Given the description of an element on the screen output the (x, y) to click on. 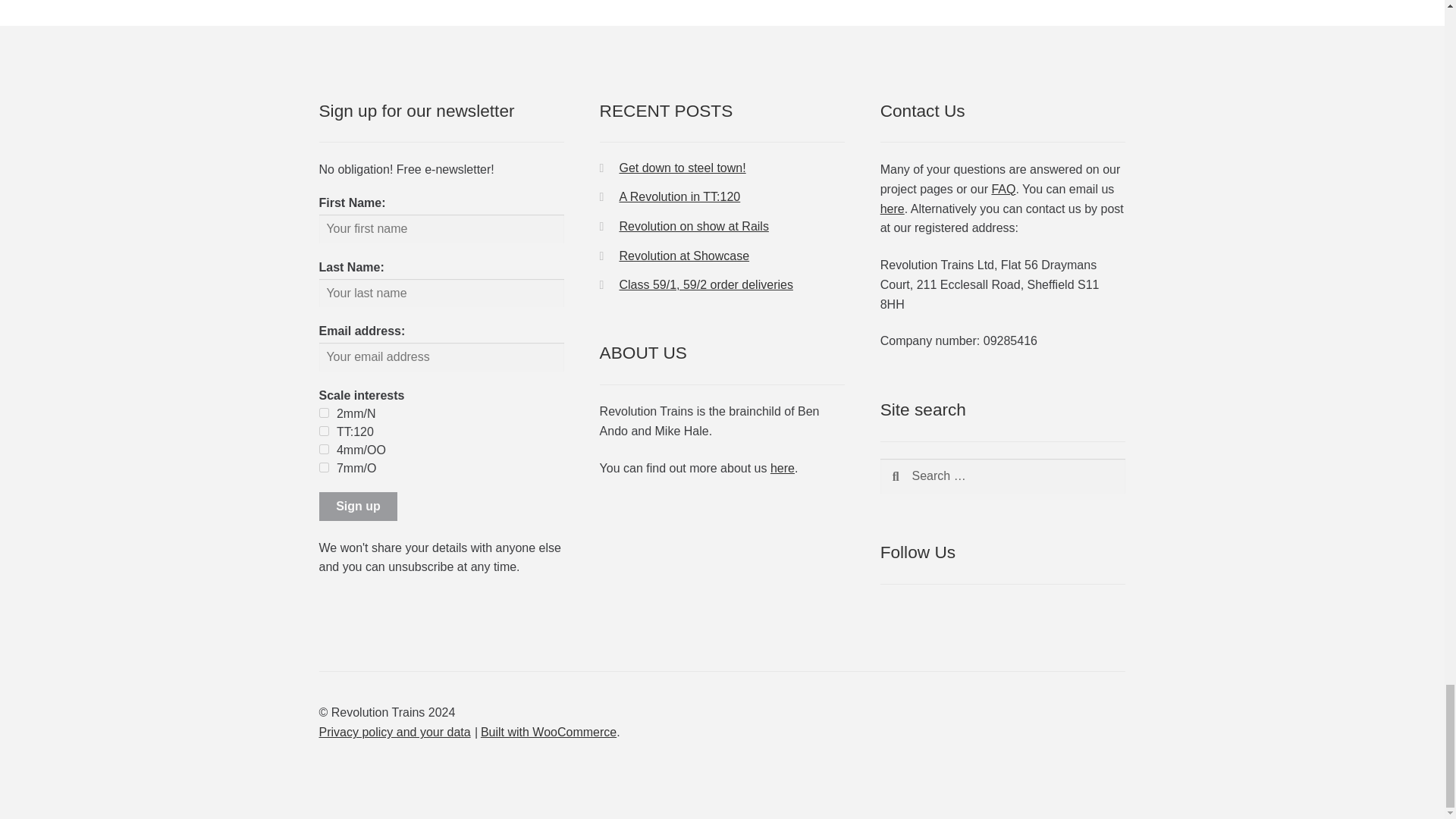
Sign up (357, 506)
8e7d2d5b1c (323, 467)
WooCommerce - The Best eCommerce Platform for WordPress (547, 731)
36d8900eaa (323, 430)
1a52f6120b (323, 449)
276d40be4a (323, 412)
